Given the description of an element on the screen output the (x, y) to click on. 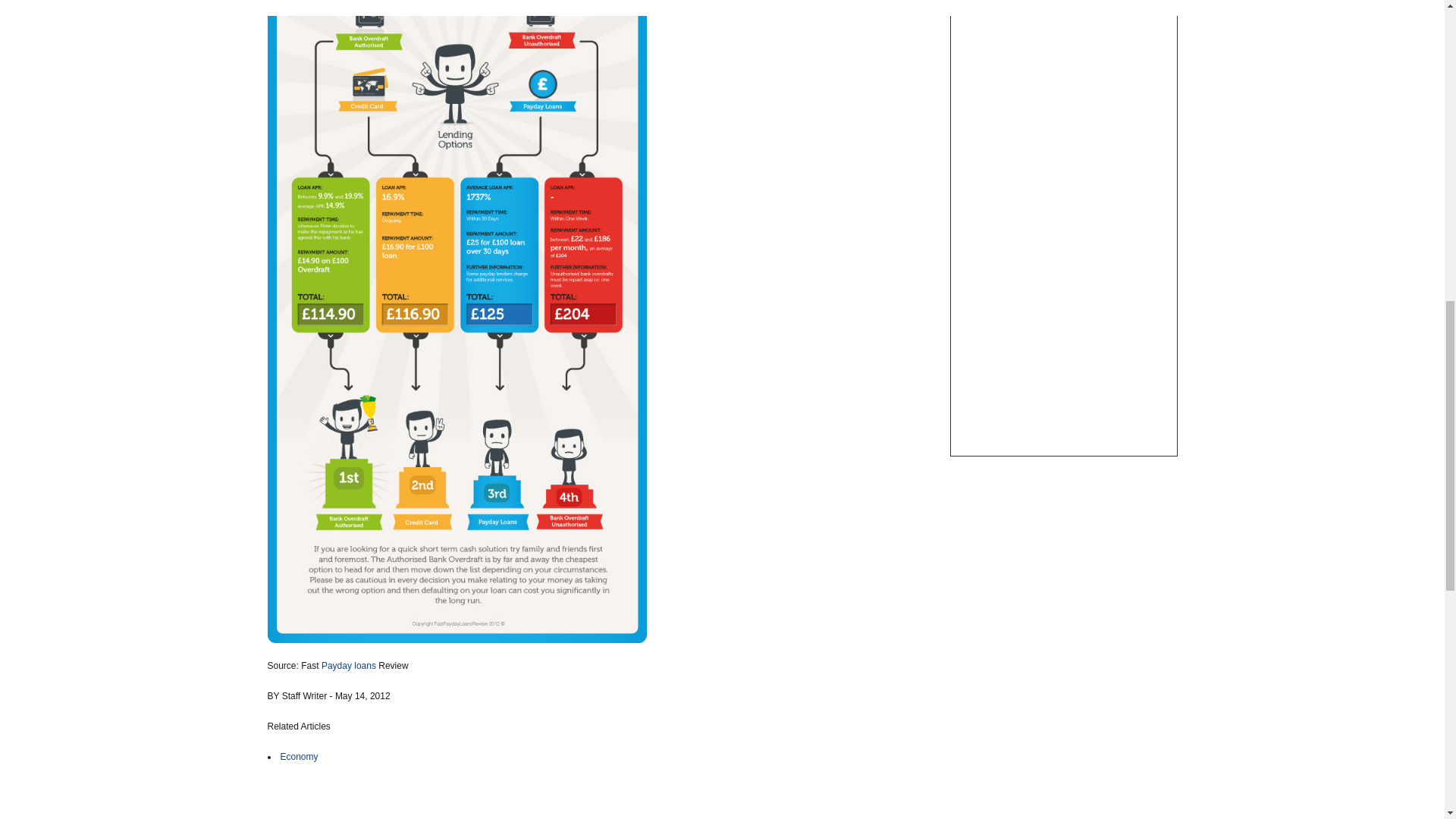
Payday loans (348, 665)
Economy (299, 756)
